Given the description of an element on the screen output the (x, y) to click on. 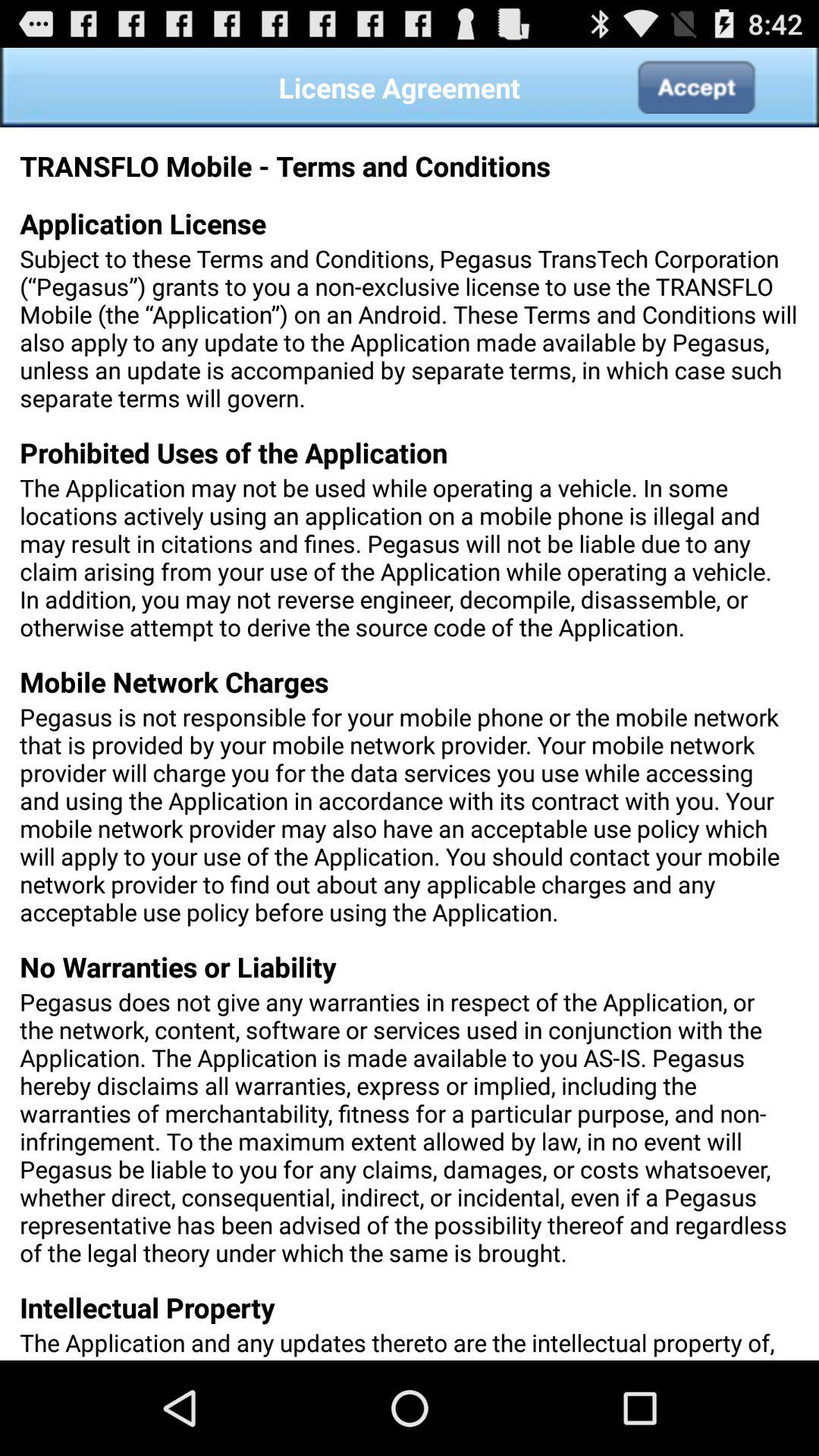
turn on the icon above subject to these (695, 86)
